Given the description of an element on the screen output the (x, y) to click on. 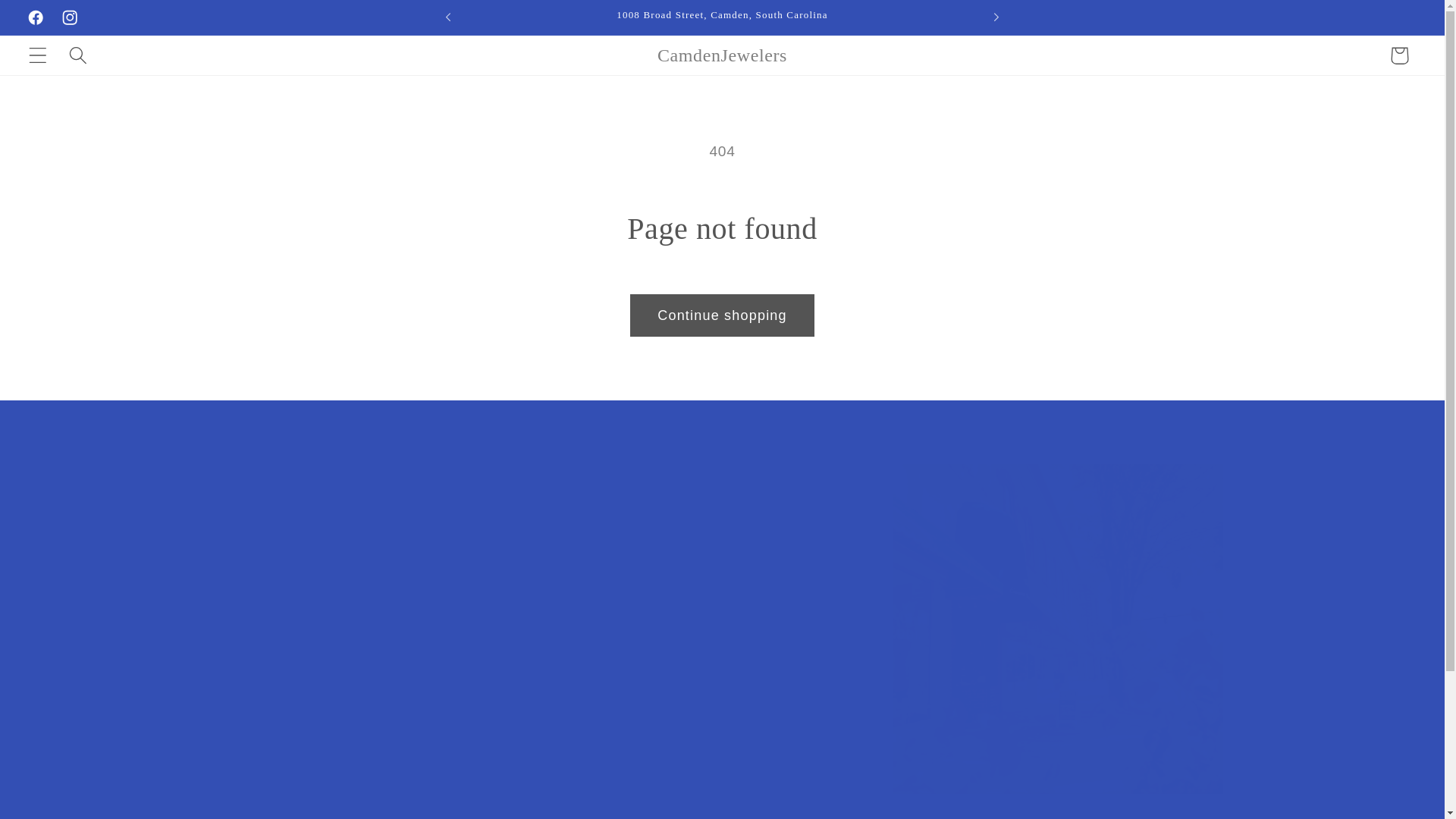
CamdenJewelers (721, 55)
Instagram (69, 17)
Facebook (34, 17)
Skip to content (55, 20)
